Given the description of an element on the screen output the (x, y) to click on. 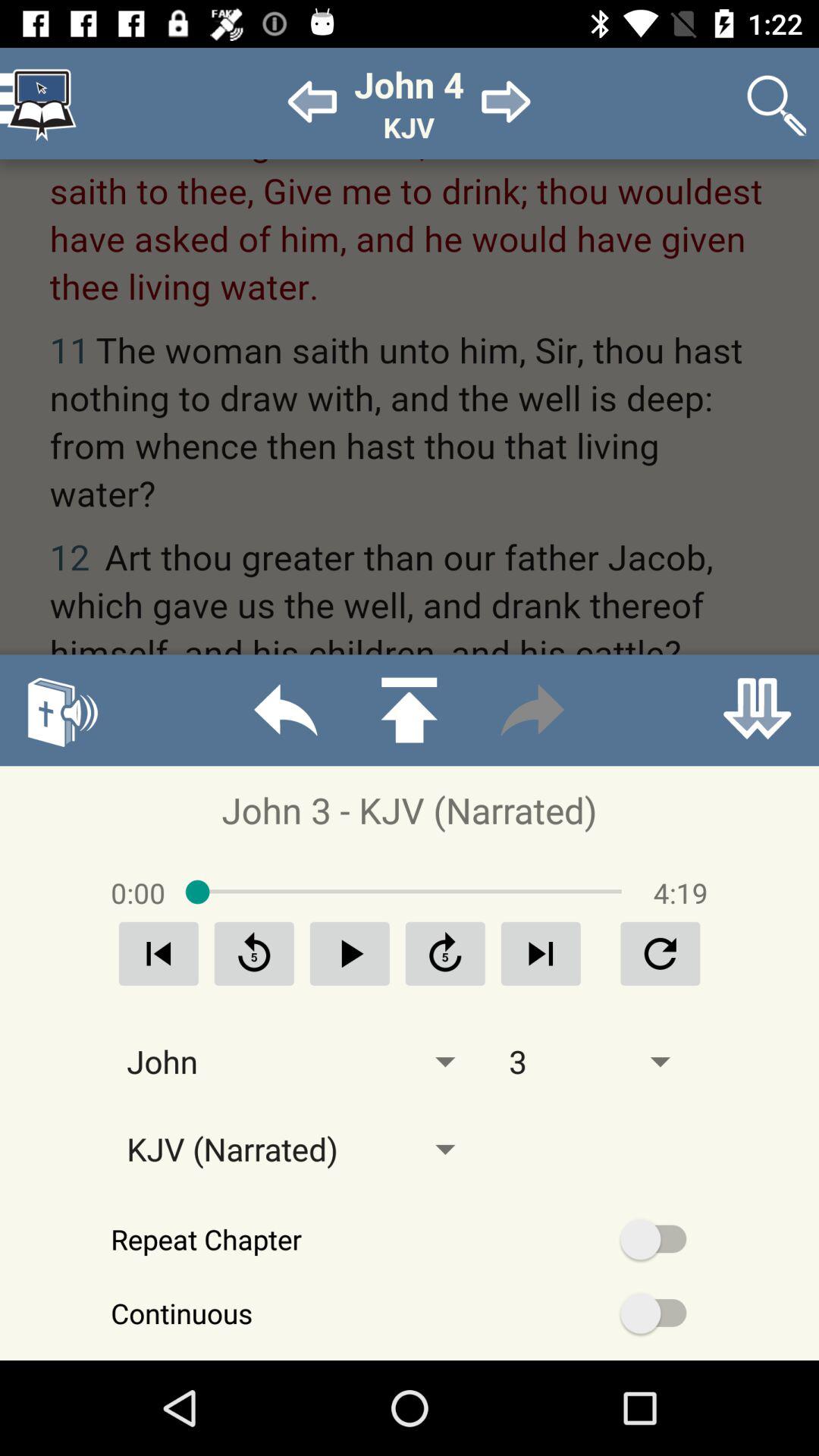
rewind 5 second (254, 953)
